Given the description of an element on the screen output the (x, y) to click on. 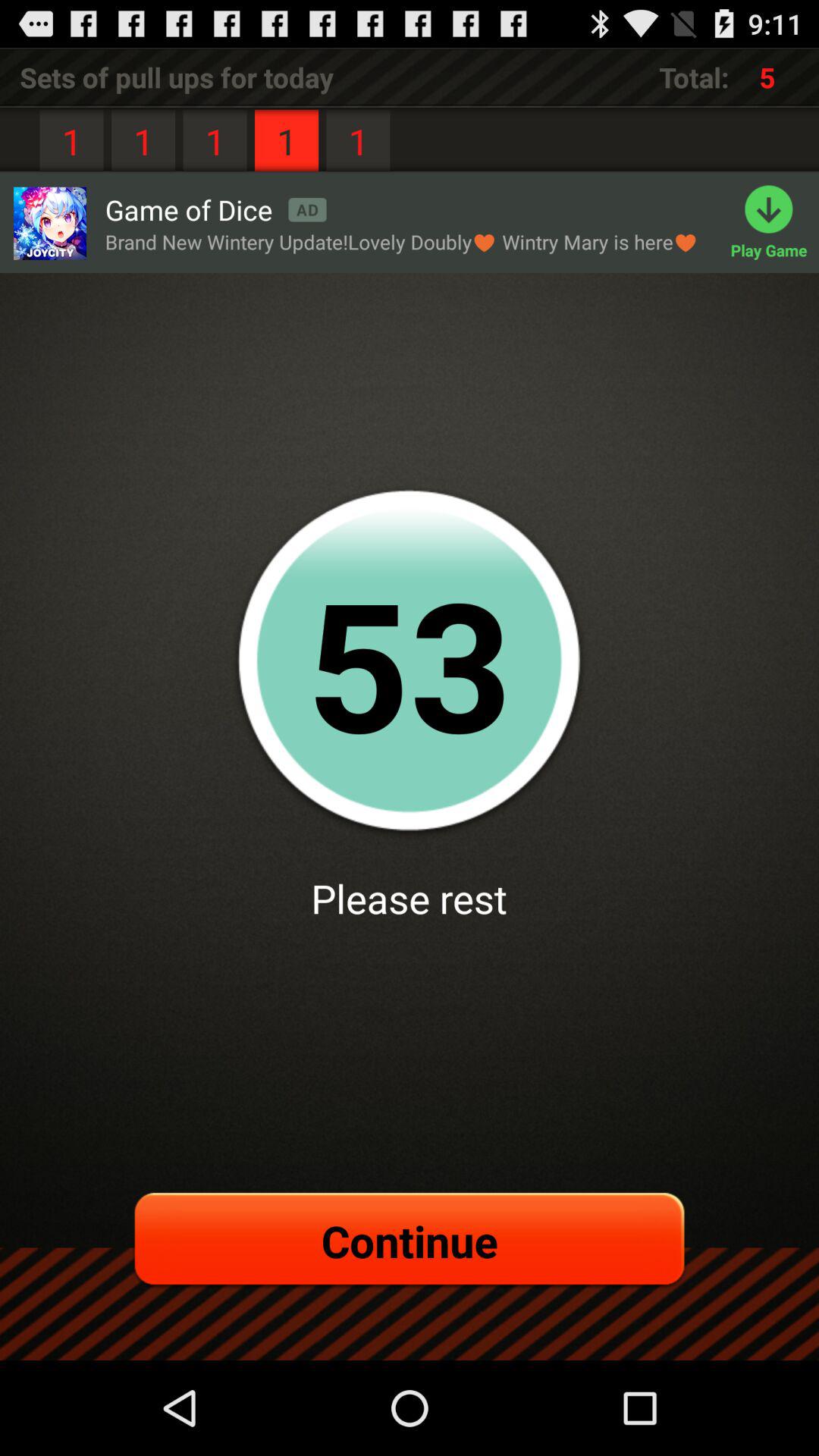
choose the icon to the left of the play game (401, 241)
